Given the description of an element on the screen output the (x, y) to click on. 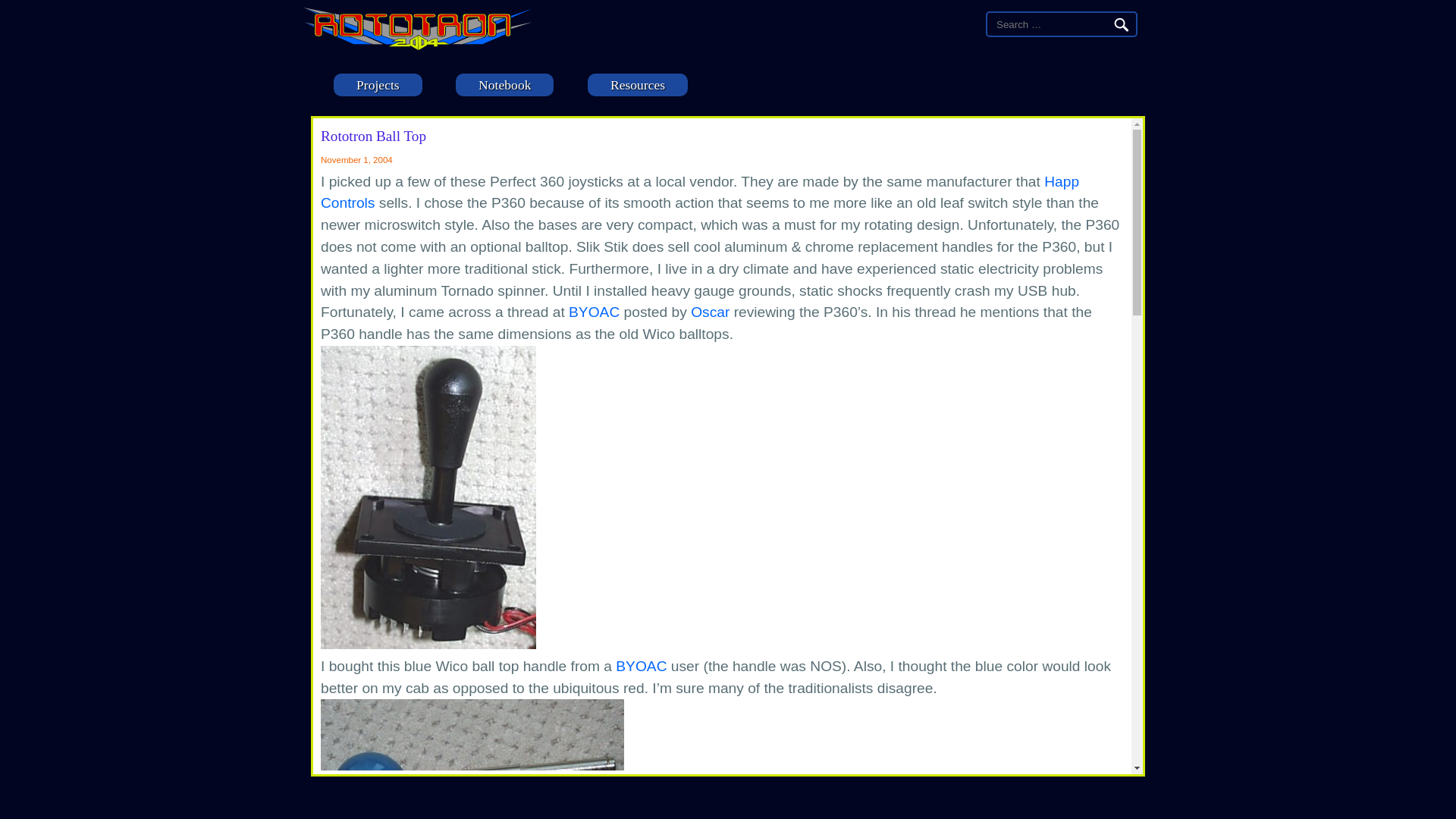
BYOAC (640, 666)
Projects (377, 84)
BYOAC (594, 311)
Search for: (1048, 24)
Happ Controls (699, 192)
Oscar (709, 311)
Resources (637, 84)
Rototron (417, 45)
Notebook (504, 84)
